Given the description of an element on the screen output the (x, y) to click on. 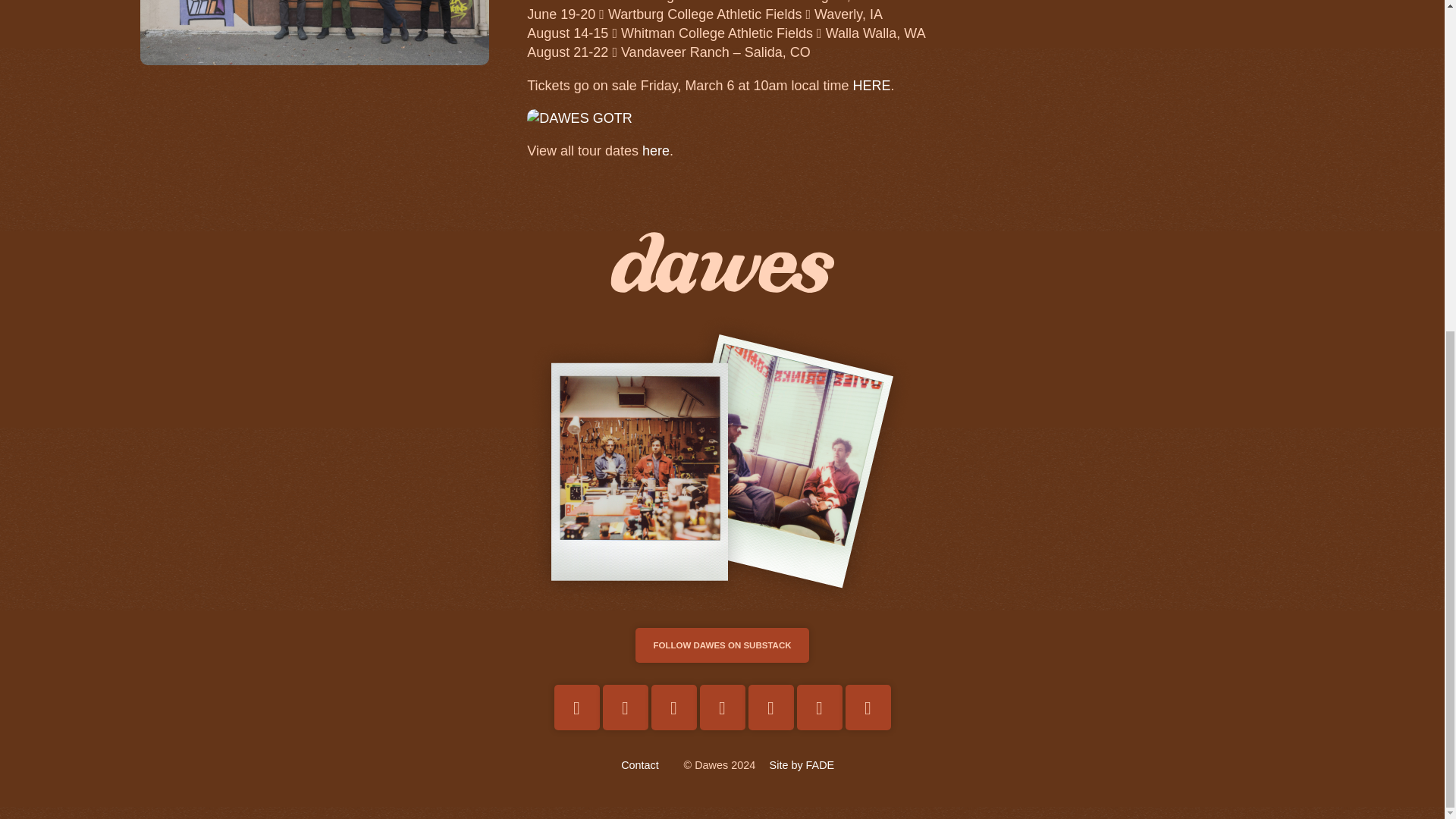
HERE (870, 85)
here (655, 150)
FOLLOW DAWES ON SUBSTACK (721, 644)
Site by FADE (802, 765)
FOLLOW DAWES ON SUBSTACK (721, 645)
Contact (640, 765)
